Given the description of an element on the screen output the (x, y) to click on. 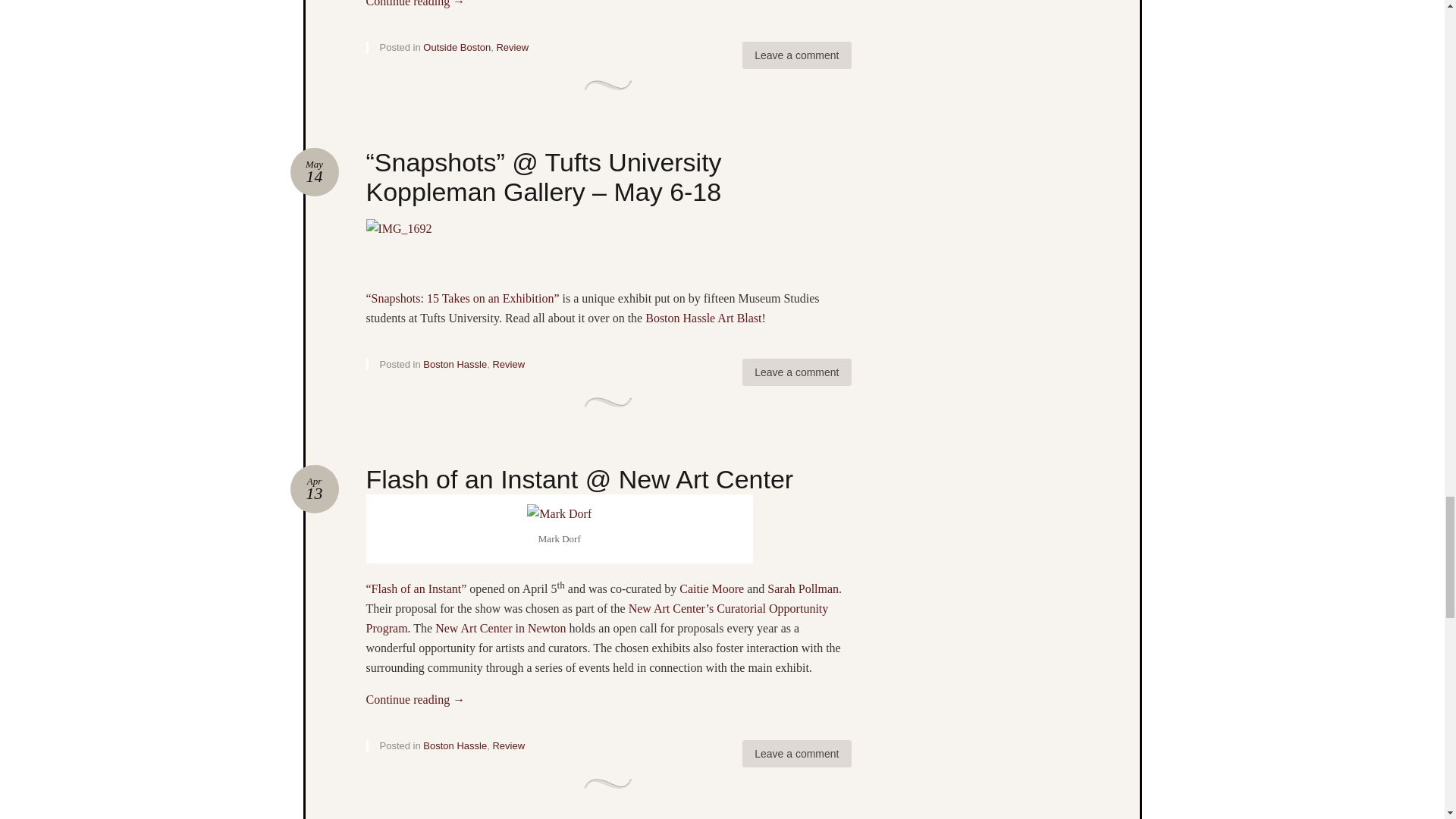
April 13 2014 (313, 489)
May 14 2014 (313, 172)
